Given the description of an element on the screen output the (x, y) to click on. 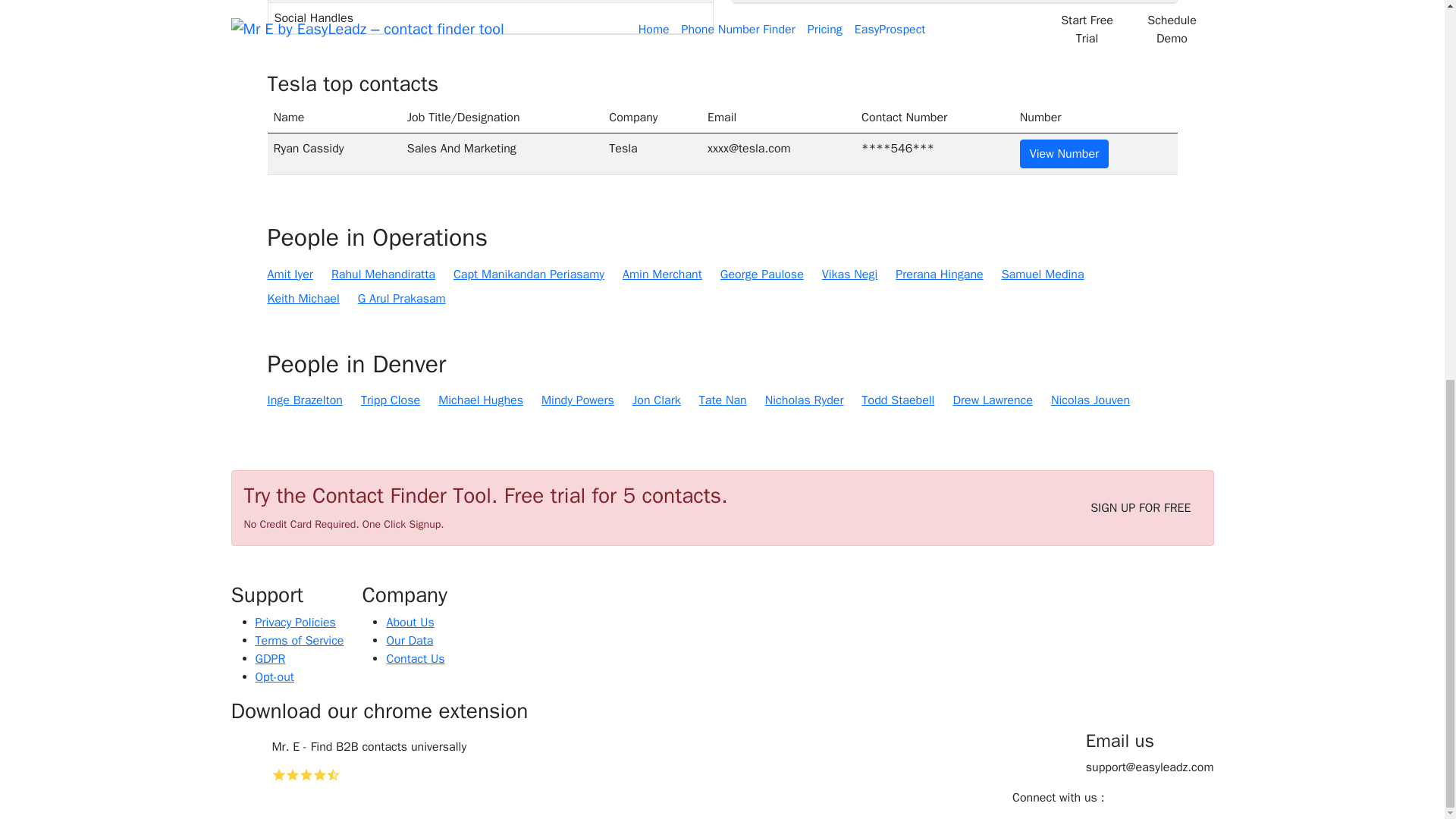
George Paulose (761, 274)
Terms of Service (298, 640)
Nicolas Jouven (1090, 400)
SIGN UP FOR FREE (1139, 507)
Rahul Mehandiratta (383, 274)
Michael Hughes (480, 400)
Mindy Powers (577, 400)
Vikas Negi (849, 274)
Todd Staebell (897, 400)
Tripp Close (390, 400)
Samuel Medina (1042, 274)
Nicholas Ryder (804, 400)
Tate Nan (722, 400)
Amit Iyer (289, 274)
Keith Michael (302, 298)
